Given the description of an element on the screen output the (x, y) to click on. 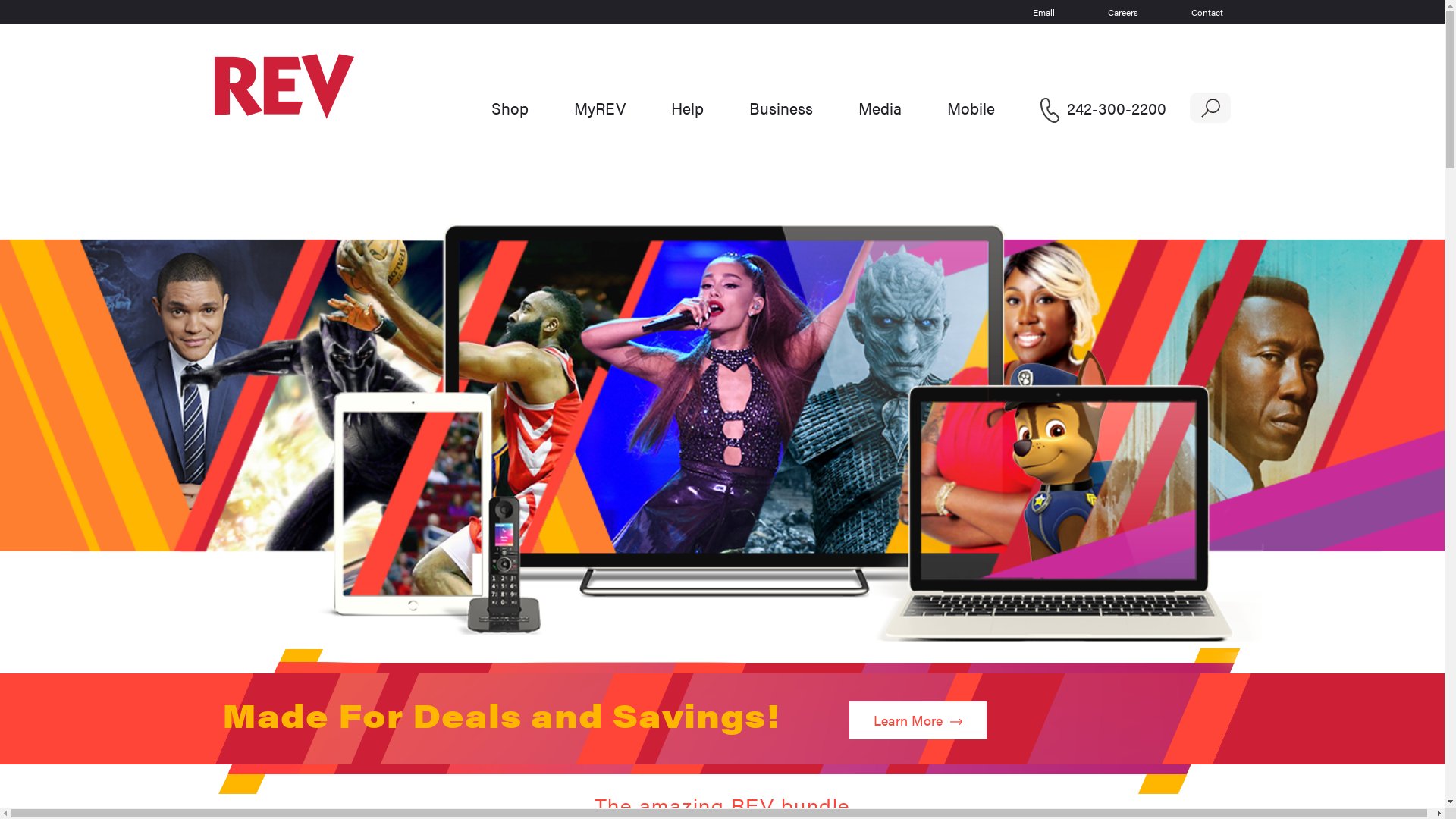
Mobile Element type: text (970, 107)
Media Element type: text (879, 107)
Search Element type: text (26, 17)
Shop Element type: text (509, 107)
Email Element type: text (1043, 11)
242-300-2200 Element type: text (1103, 107)
Business Element type: text (780, 107)
MyREV Element type: text (599, 107)
Learn More Element type: text (917, 720)
Help Element type: text (687, 107)
Contact Element type: text (1206, 11)
Careers Element type: text (1122, 11)
